Given the description of an element on the screen output the (x, y) to click on. 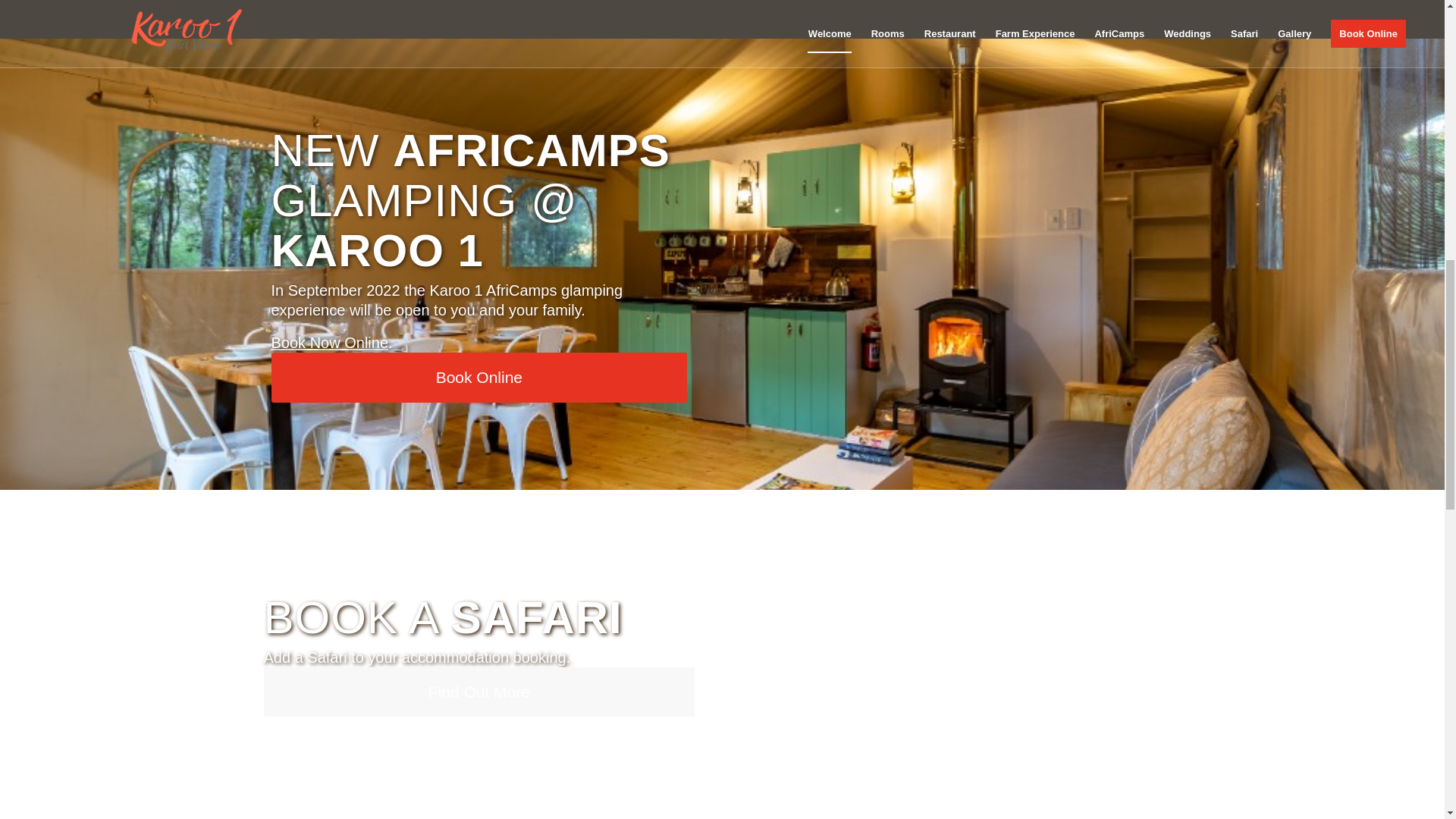
Book Now Online (329, 342)
Find Out More (479, 691)
Book Online (478, 377)
